Given the description of an element on the screen output the (x, y) to click on. 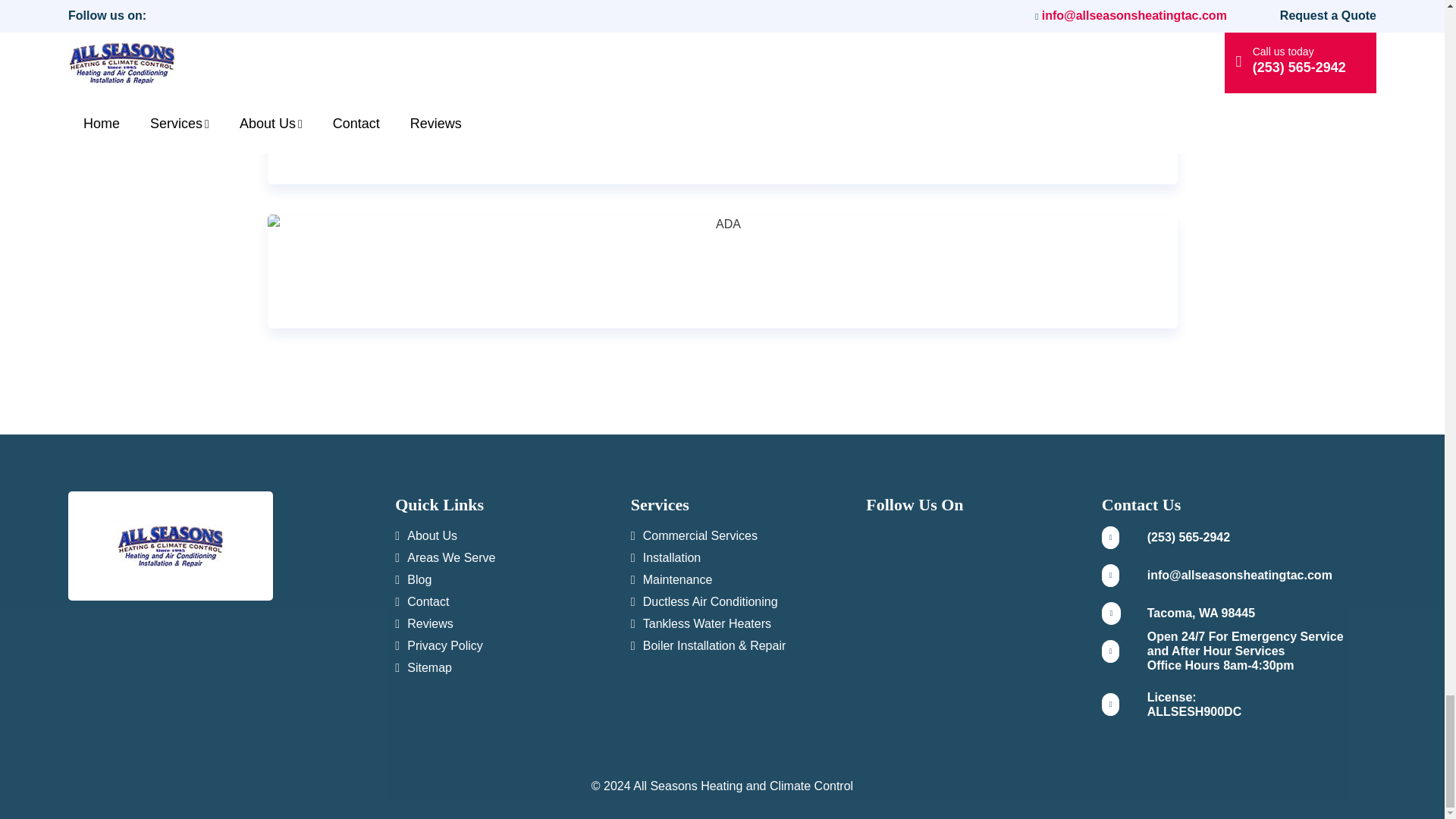
ADA (721, 224)
All Seasons Heating and Climate Control (170, 545)
EPA Lead-Safe Certified Firm (721, 20)
Follow us on Twitter (892, 532)
BBB Accredited Business (721, 127)
